Given the description of an element on the screen output the (x, y) to click on. 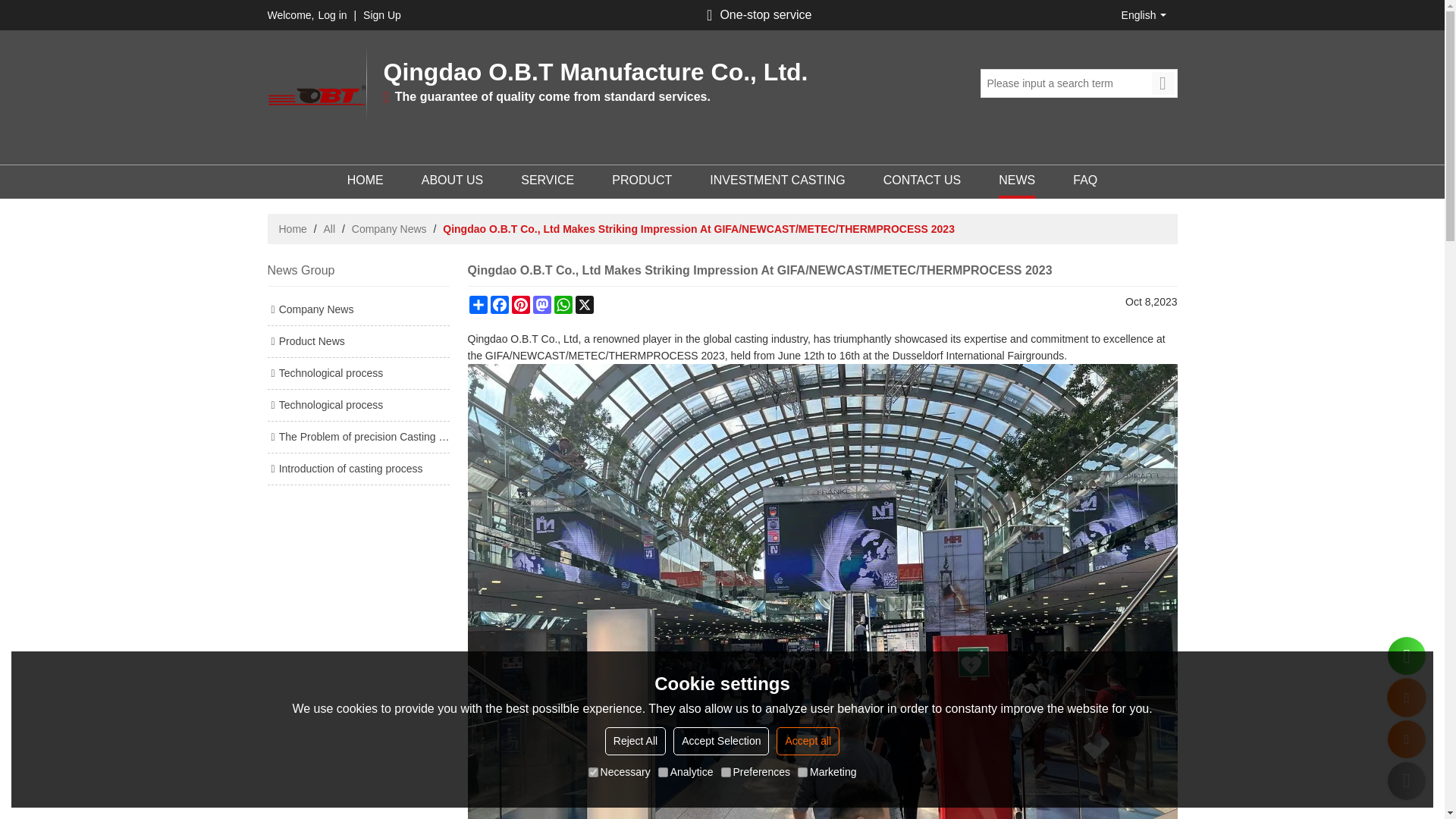
on (725, 772)
Company News (389, 228)
Company News (357, 309)
Log in (331, 15)
on (663, 772)
NEWS (1016, 182)
Sign Up (381, 15)
Introduction of casting process (357, 468)
INVESTMENT CASTING (777, 182)
on (802, 772)
